Given the description of an element on the screen output the (x, y) to click on. 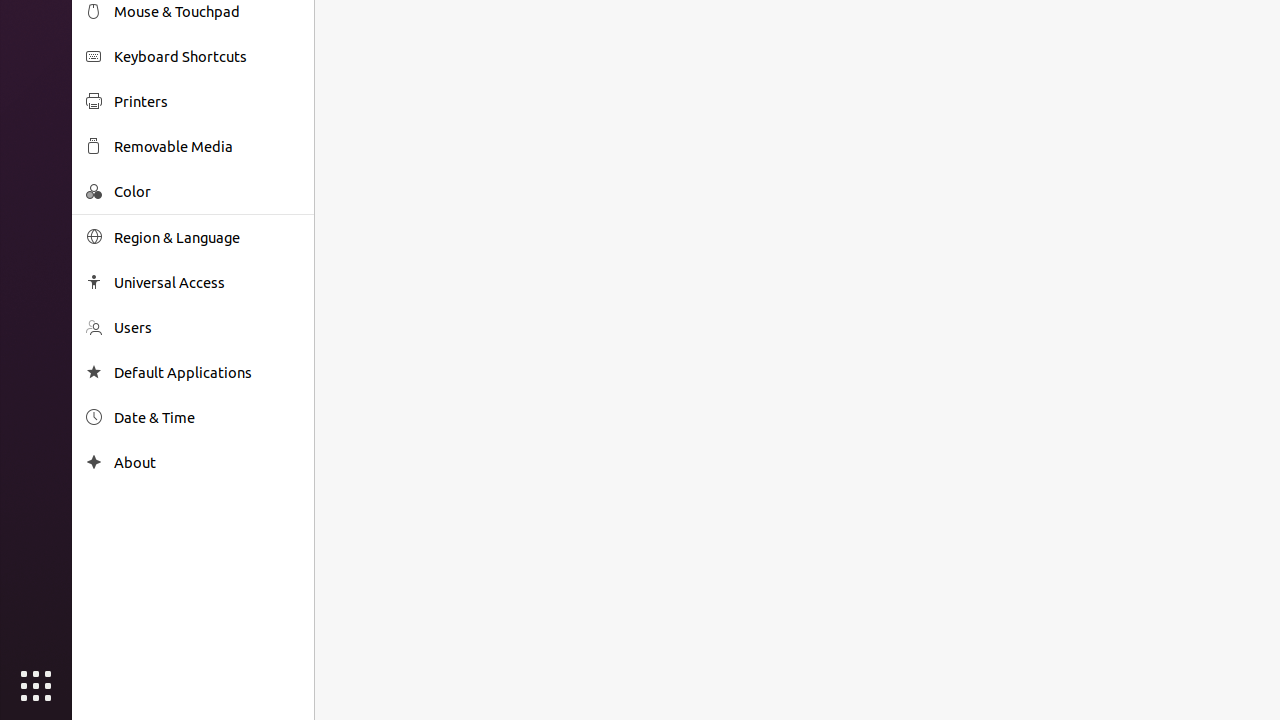
Date & Time Element type: label (207, 417)
Color Element type: label (207, 191)
Removable Media Element type: label (207, 146)
Users Element type: label (207, 327)
